Given the description of an element on the screen output the (x, y) to click on. 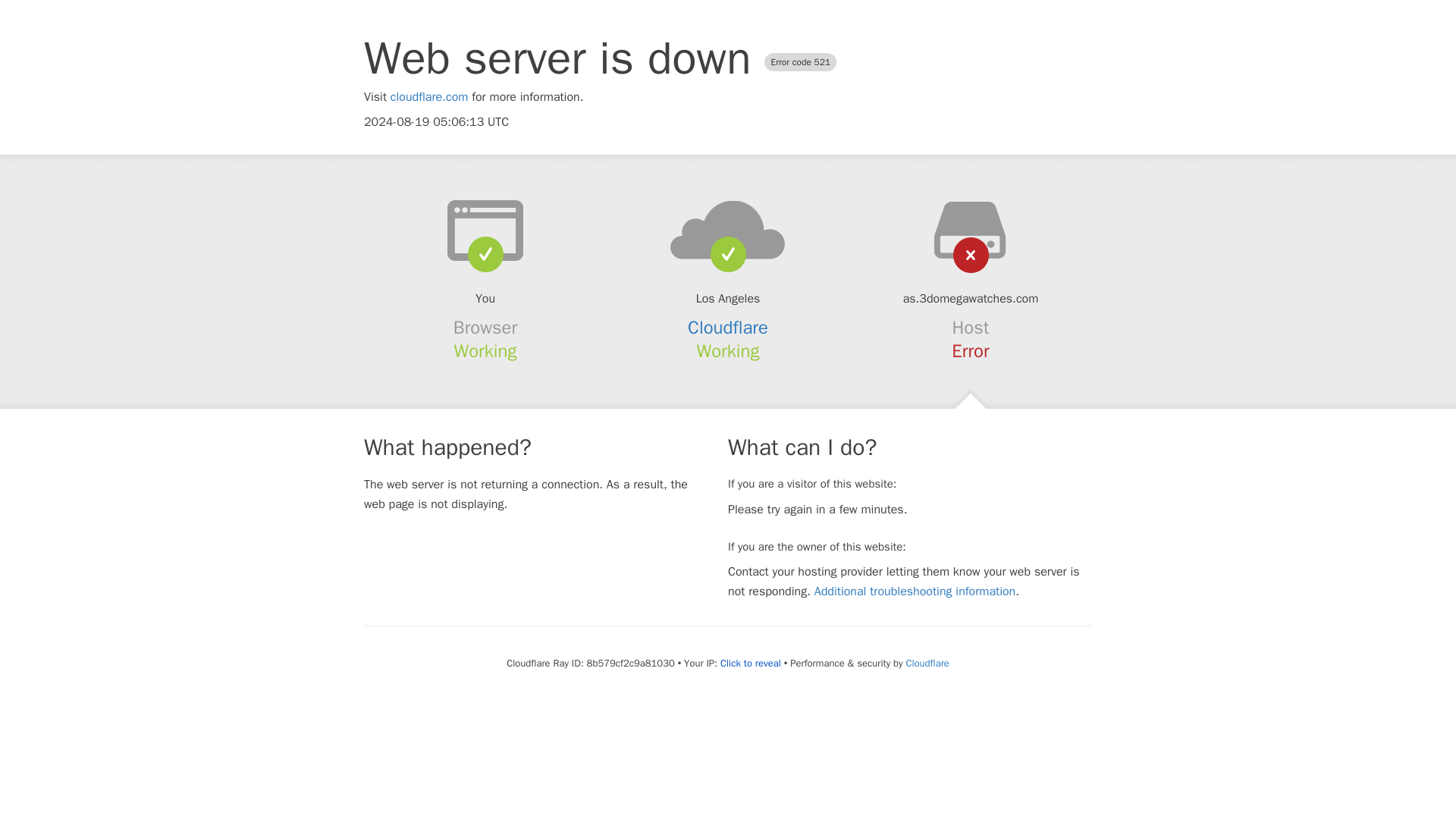
cloudflare.com (429, 96)
Click to reveal (750, 663)
Additional troubleshooting information (913, 590)
Cloudflare (927, 662)
Cloudflare (727, 327)
